Given the description of an element on the screen output the (x, y) to click on. 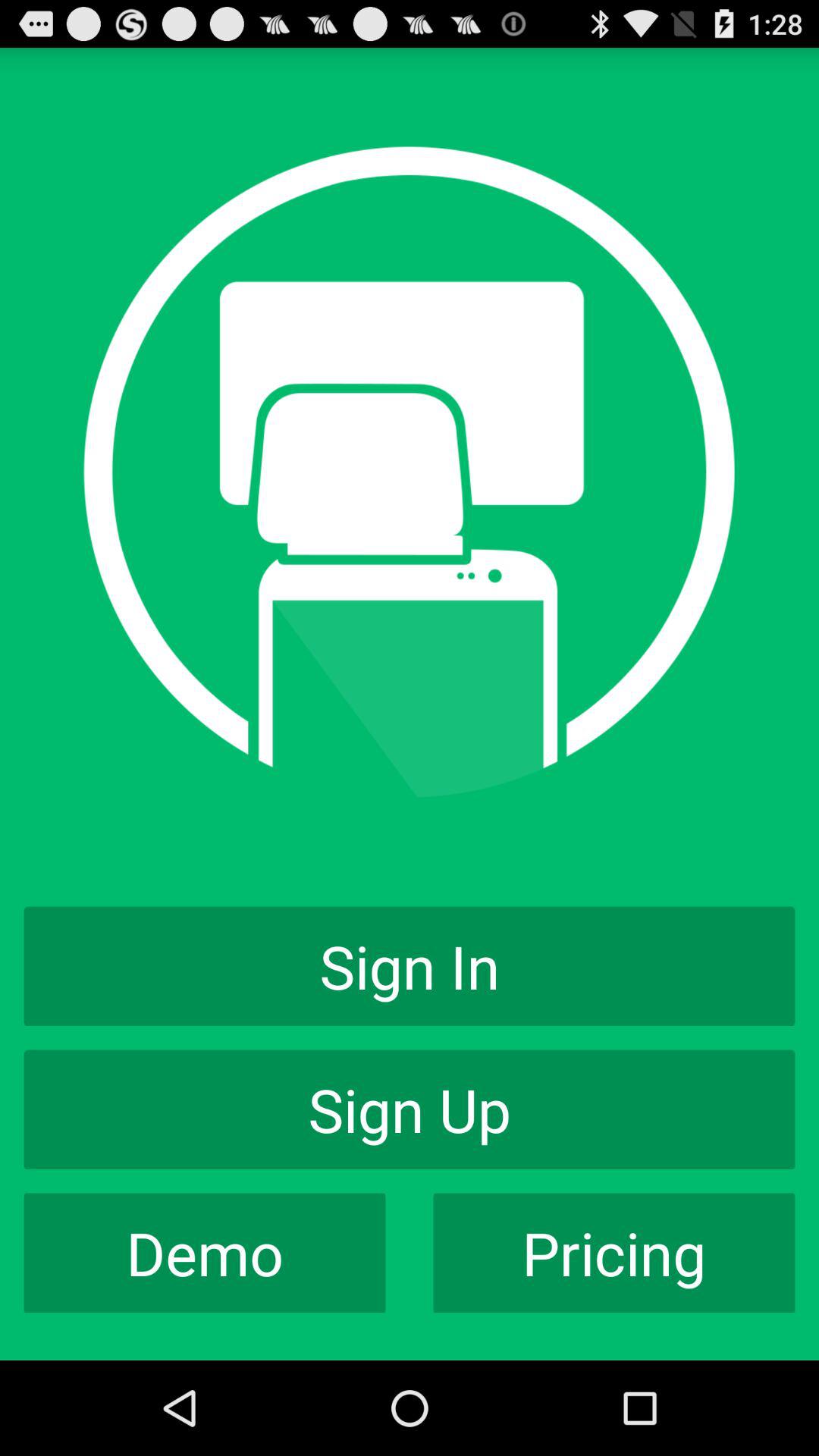
turn on the icon at the bottom right corner (614, 1252)
